Given the description of an element on the screen output the (x, y) to click on. 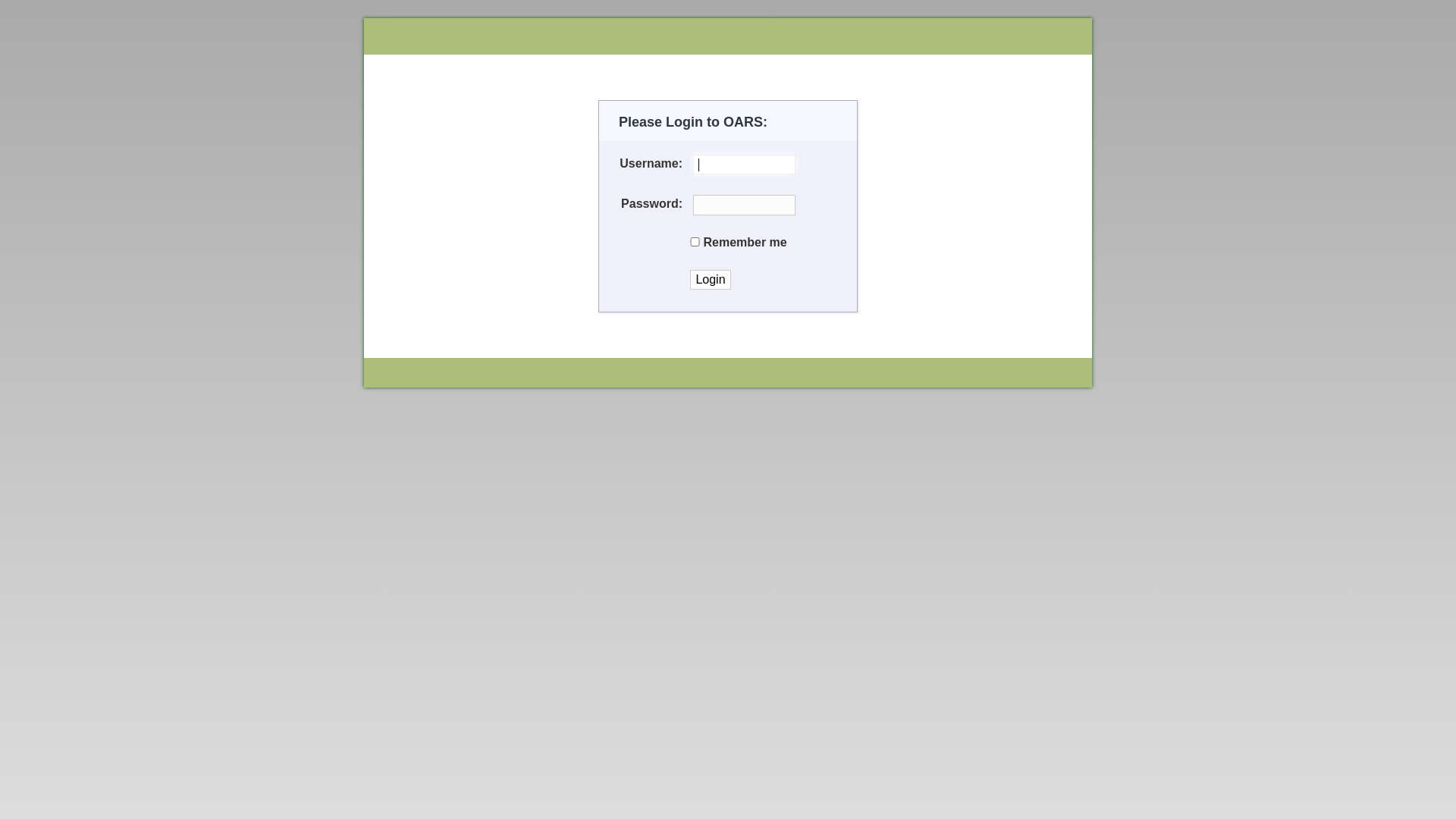
Login Element type: text (710, 279)
